Given the description of an element on the screen output the (x, y) to click on. 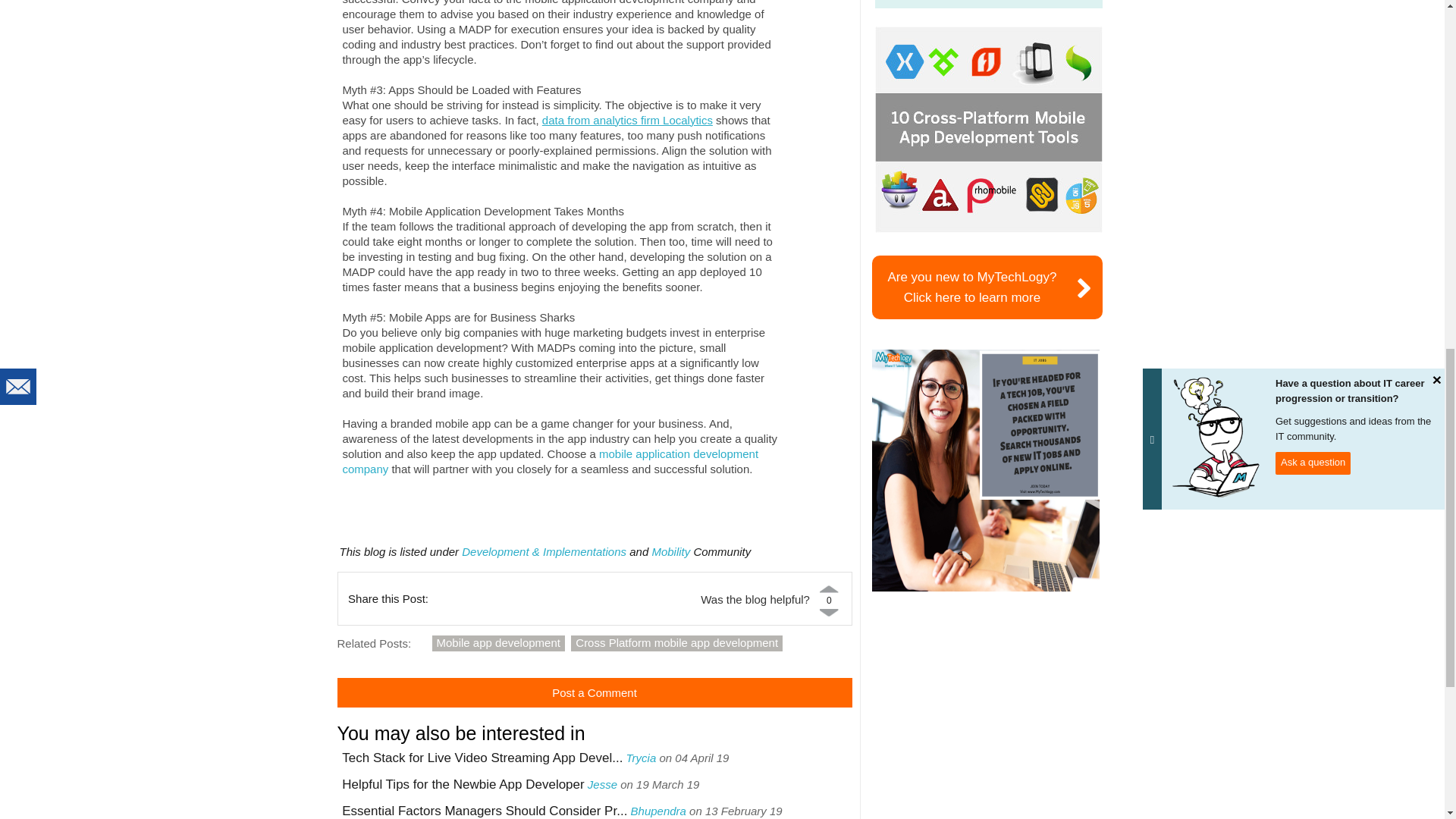
This post is unclear and not useful (828, 611)
mobile application development company (550, 461)
data from analytics firm Localytics (627, 119)
Trycia (642, 757)
Mobile app development (498, 643)
Cross Platform mobile app development (676, 643)
Tech Stack for Live Video Streaming App Development (482, 757)
Mobility (670, 551)
Helpful Tips for the Newbie App Developer (462, 784)
